Given the description of an element on the screen output the (x, y) to click on. 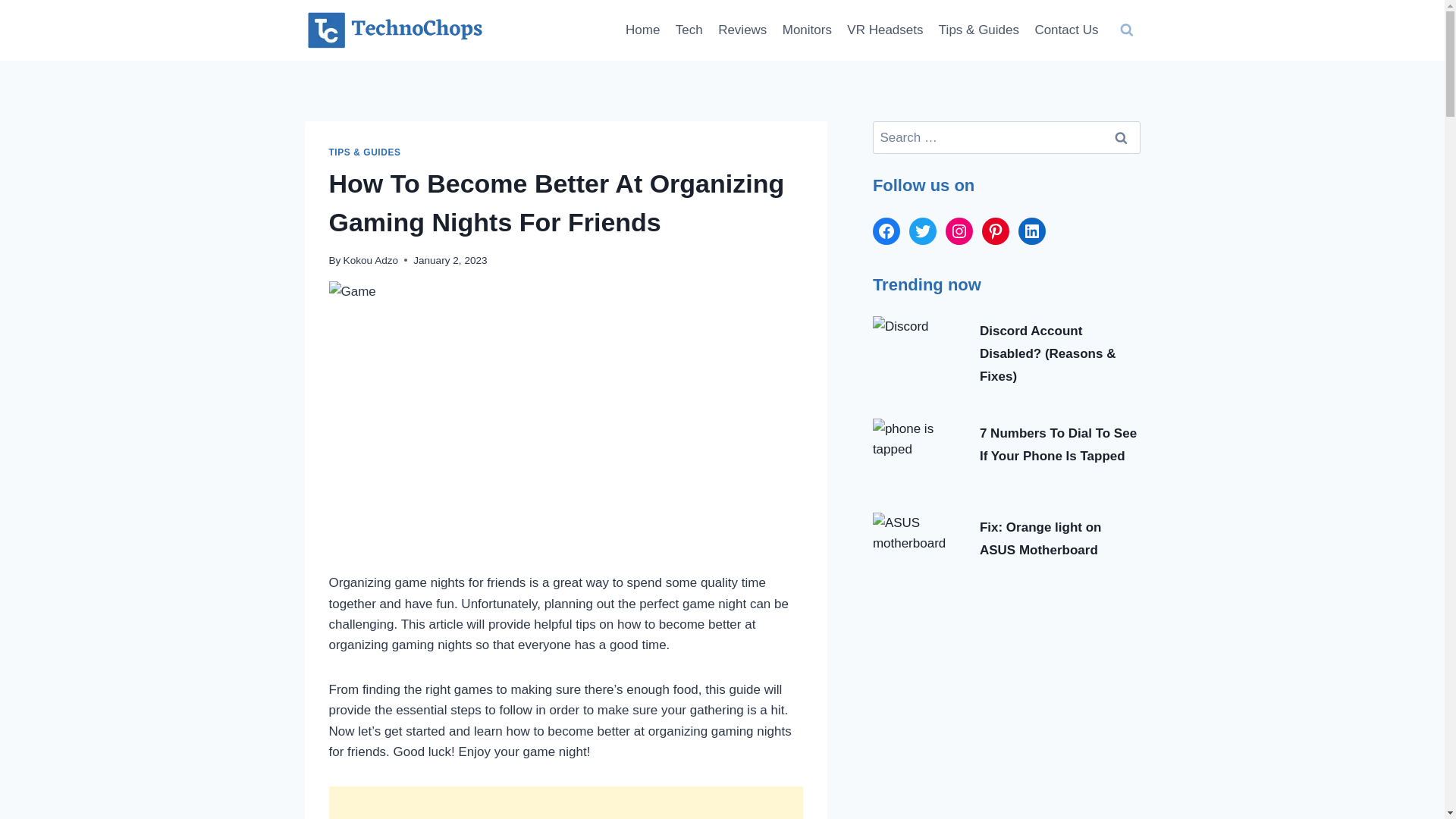
Kokou Adzo (370, 260)
Search (1121, 137)
Monitors (807, 30)
Tech (689, 30)
Home (642, 30)
Contact Us (1065, 30)
Search (1121, 137)
VR Headsets (885, 30)
Reviews (742, 30)
